Given the description of an element on the screen output the (x, y) to click on. 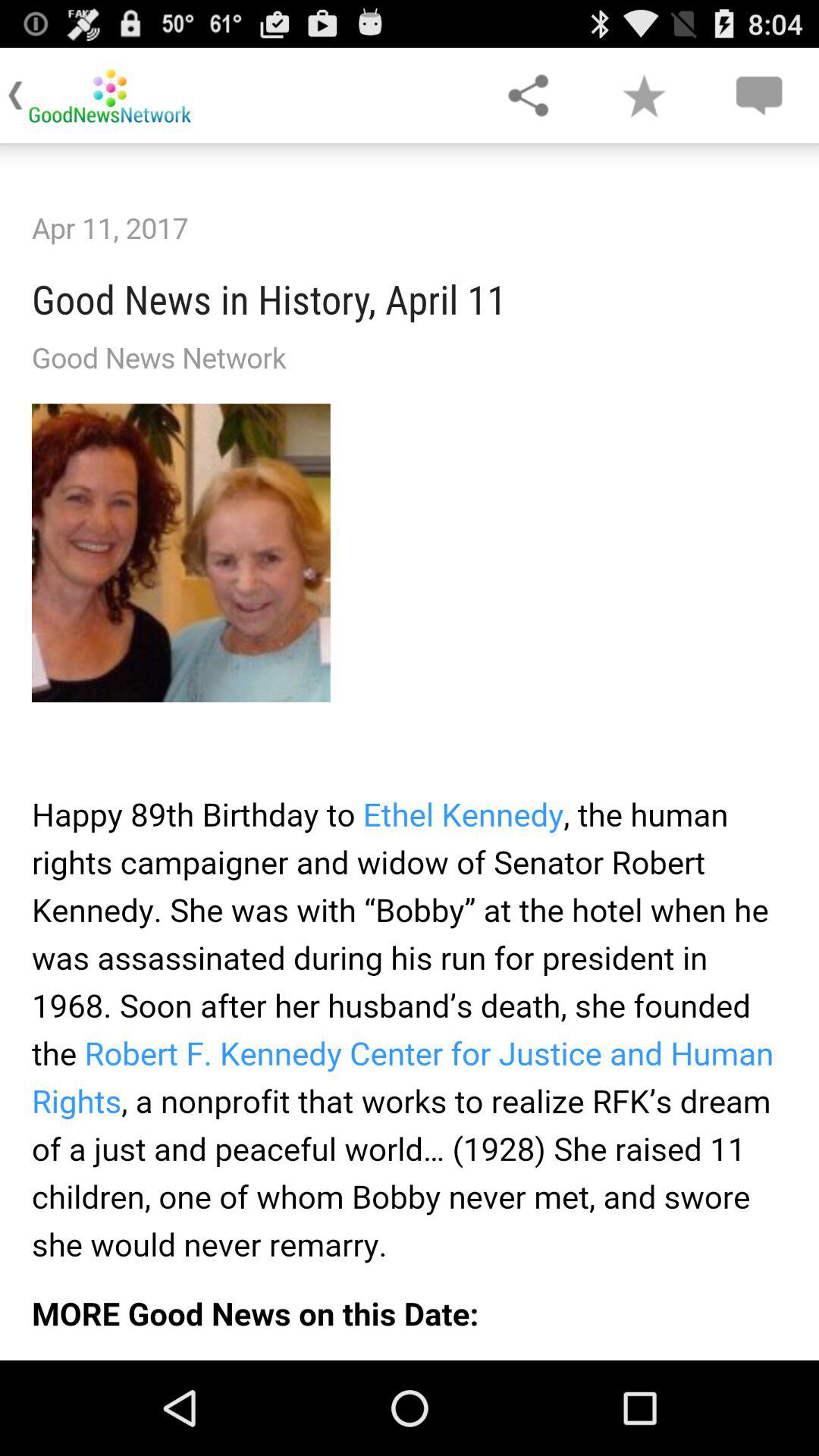
click to add comment (758, 95)
